Given the description of an element on the screen output the (x, y) to click on. 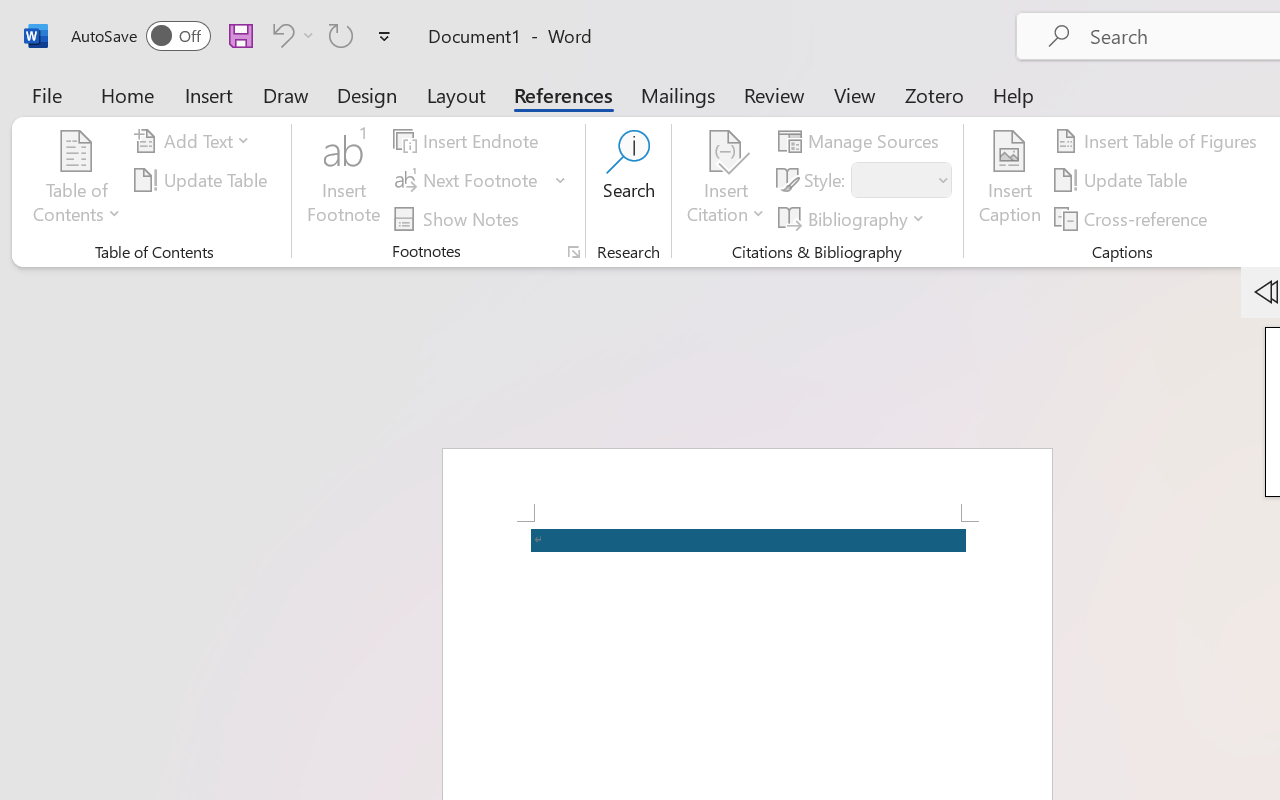
Table of Contents (77, 179)
Insert Table of Figures... (1158, 141)
Repeat Accessibility Checker (341, 35)
Manage Sources... (861, 141)
Style (901, 179)
Add Text (195, 141)
Show Notes (459, 218)
Update Table... (204, 179)
